Given the description of an element on the screen output the (x, y) to click on. 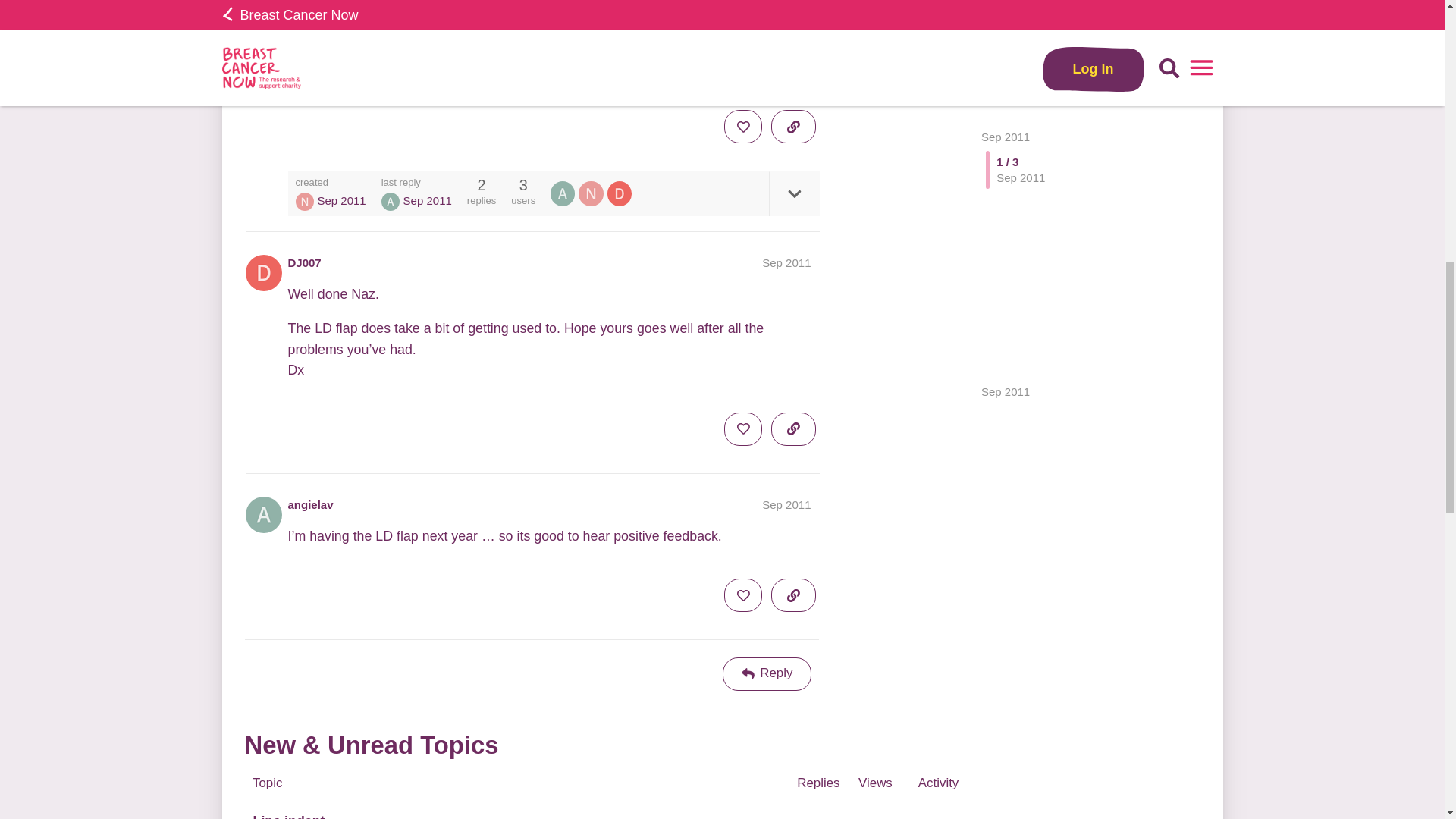
last reply (416, 182)
Sep 2011 (1005, 20)
angielav (310, 504)
NAZ (304, 201)
DJ007 (304, 262)
Reply (767, 674)
angielav (562, 192)
Sep 2011 (785, 262)
23 Sep 2011 18:28 (1005, 20)
expand topic details (793, 193)
